Given the description of an element on the screen output the (x, y) to click on. 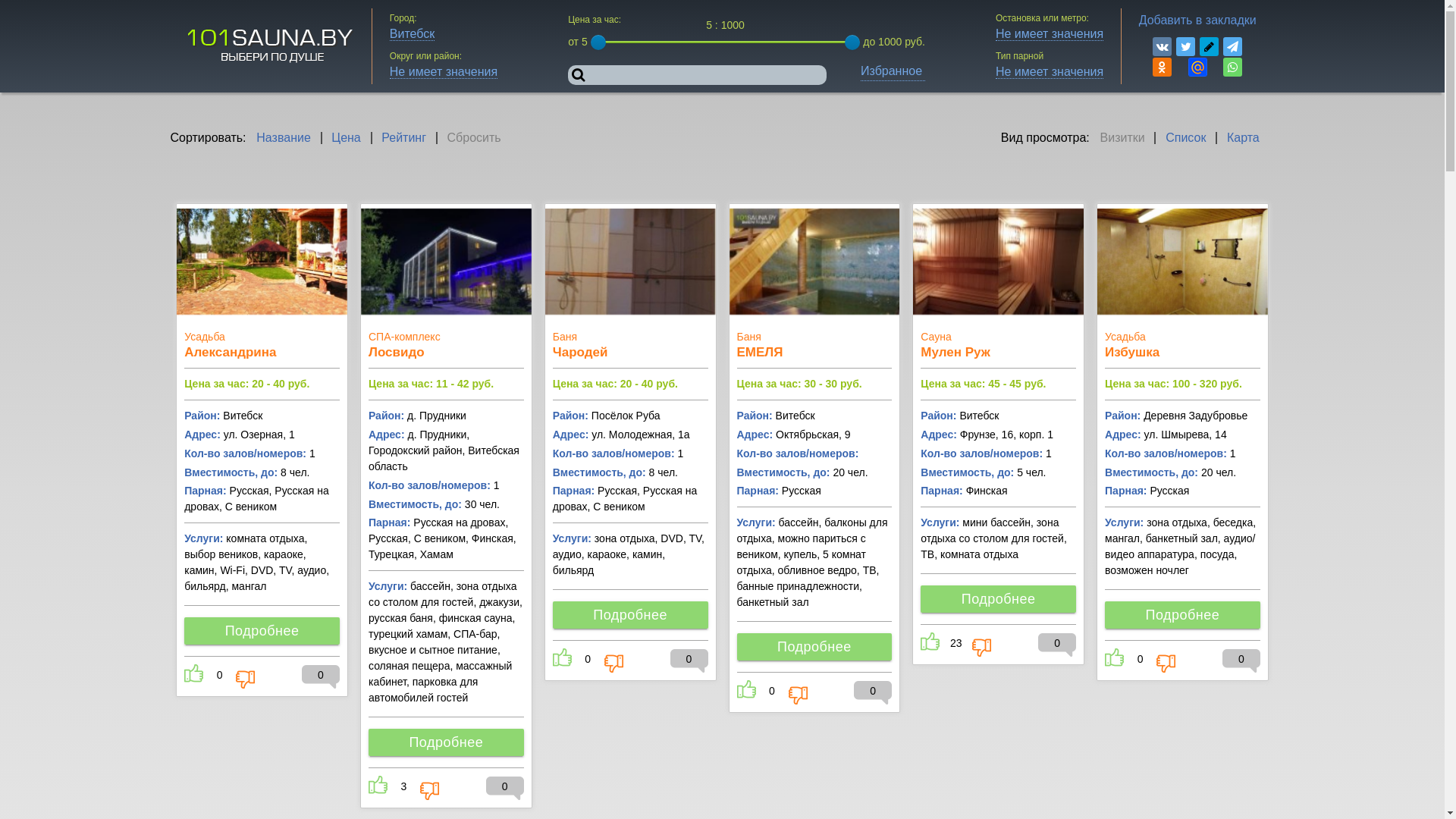
2 Element type: hover (1182, 260)
2 Element type: hover (630, 260)
4 Element type: hover (445, 260)
2 Element type: hover (261, 260)
